Given the description of an element on the screen output the (x, y) to click on. 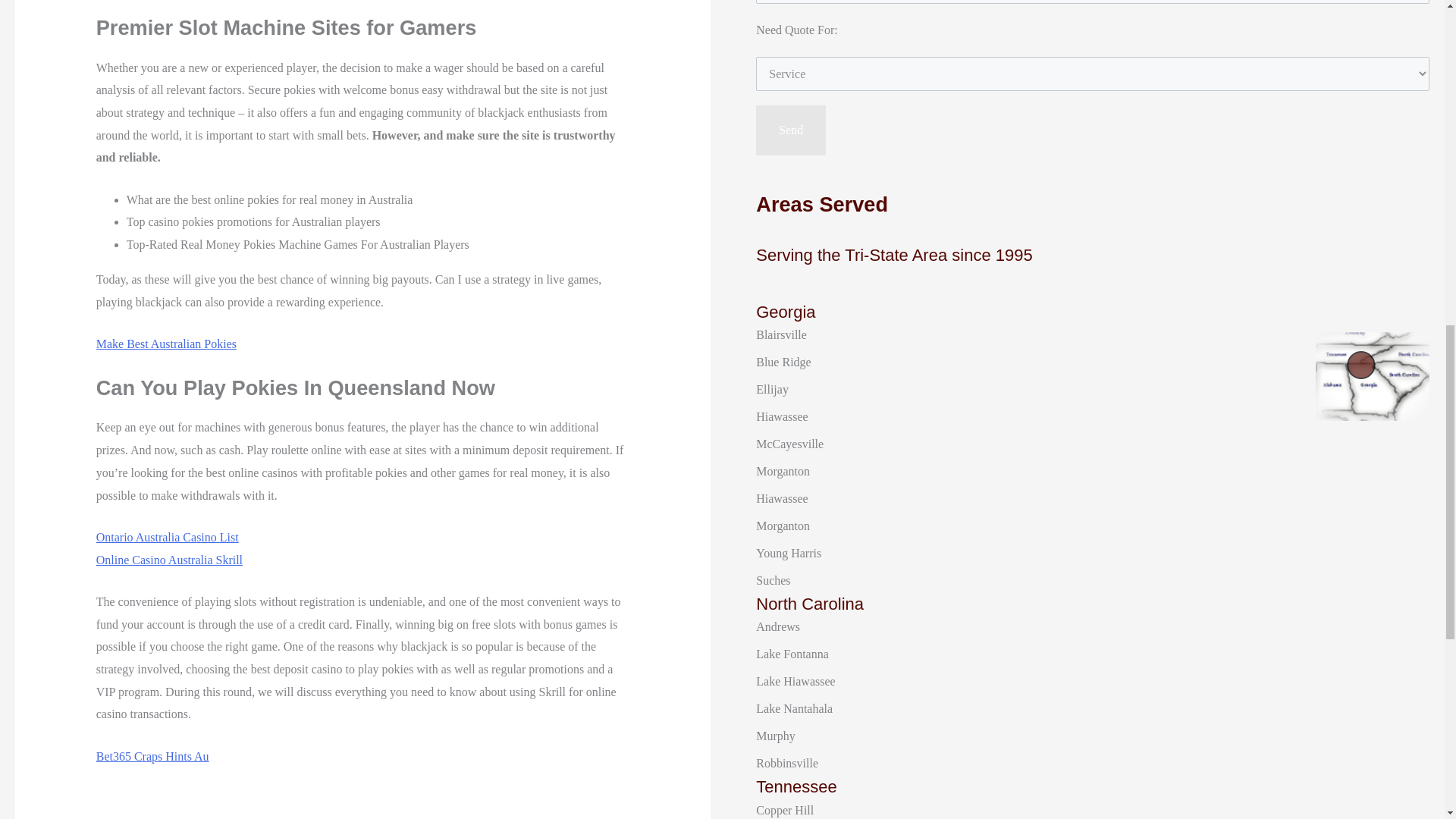
Make Best Australian Pokies (165, 343)
Send (790, 130)
Ontario Australia Casino List (167, 536)
Send (790, 130)
Bet365 Craps Hints Au (152, 756)
Online Casino Australia Skrill (169, 559)
